Given the description of an element on the screen output the (x, y) to click on. 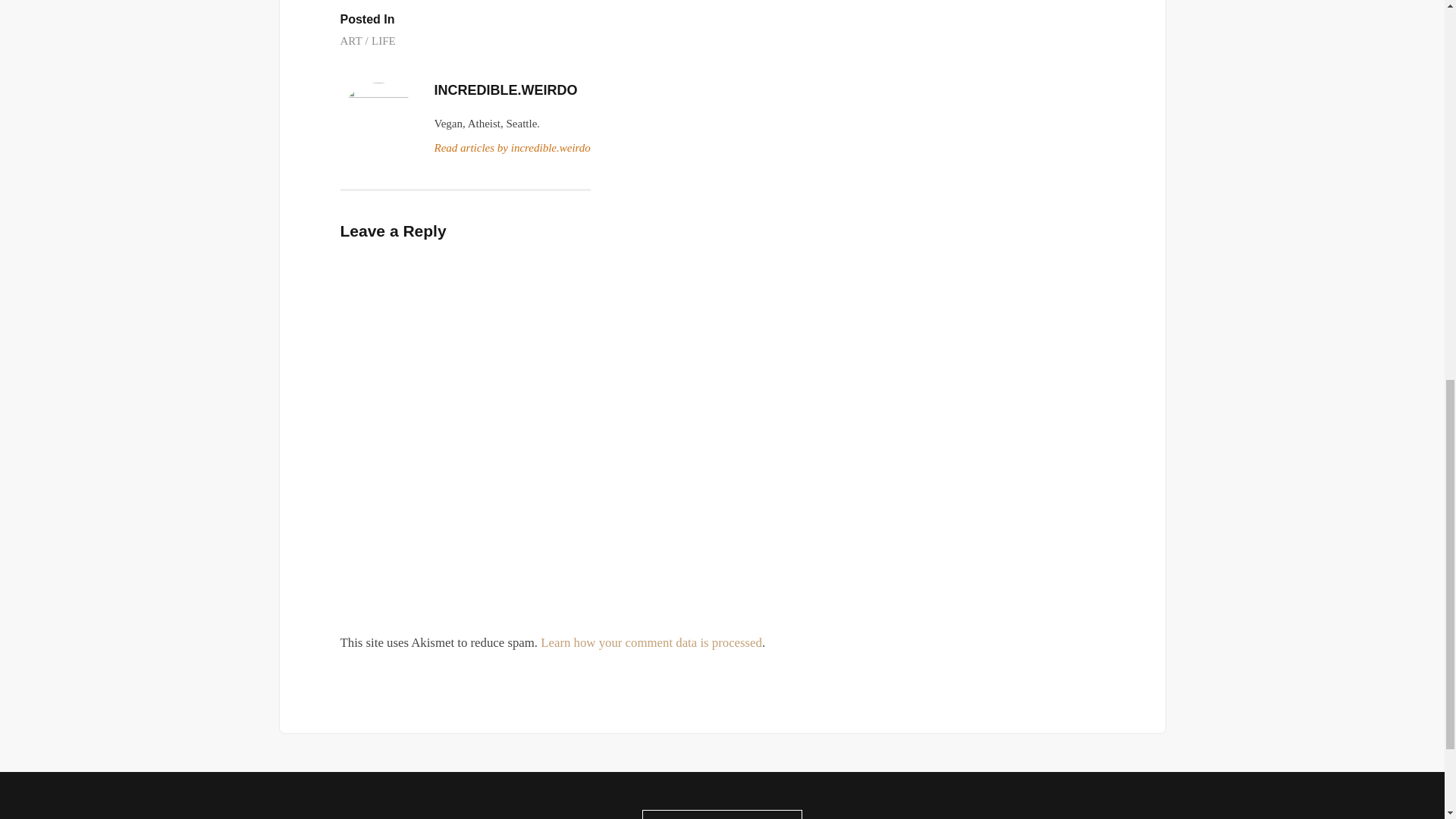
LIFE (383, 41)
ART (353, 41)
Read articles by incredible.weirdo (511, 148)
Learn how your comment data is processed (650, 642)
